Given the description of an element on the screen output the (x, y) to click on. 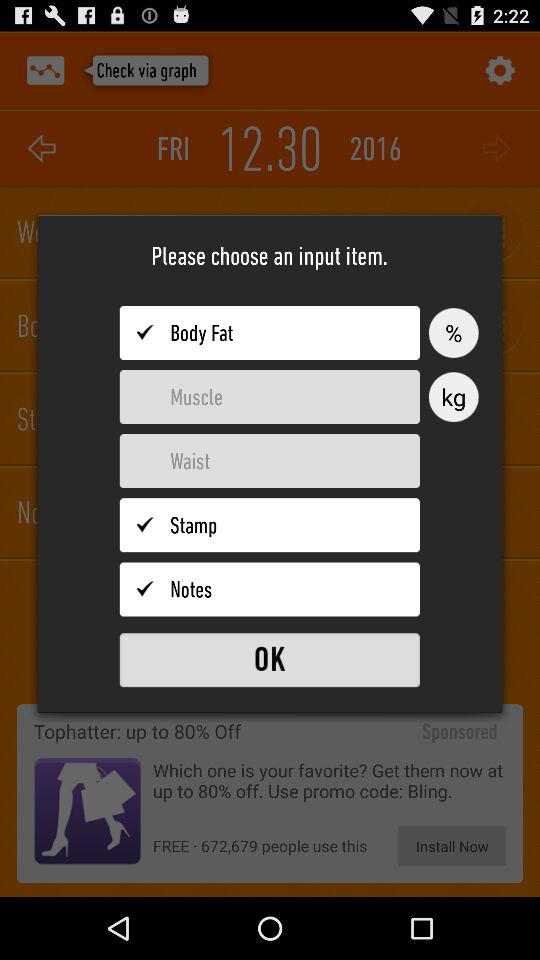
choose stamp item (269, 525)
